Given the description of an element on the screen output the (x, y) to click on. 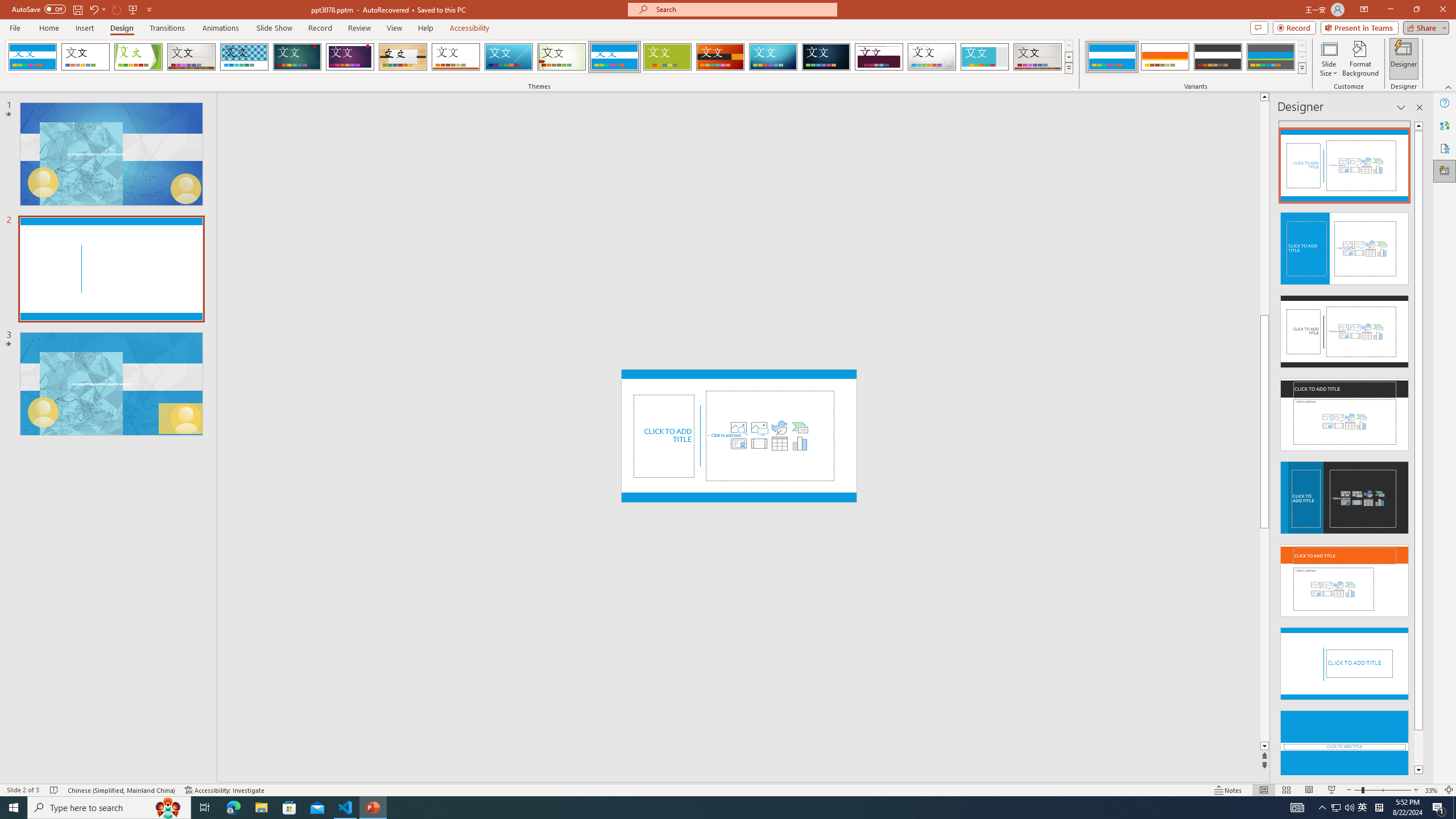
Organic (403, 56)
Integral (244, 56)
Banded (614, 56)
Banded Variant 2 (1164, 56)
Ion (296, 56)
